Given the description of an element on the screen output the (x, y) to click on. 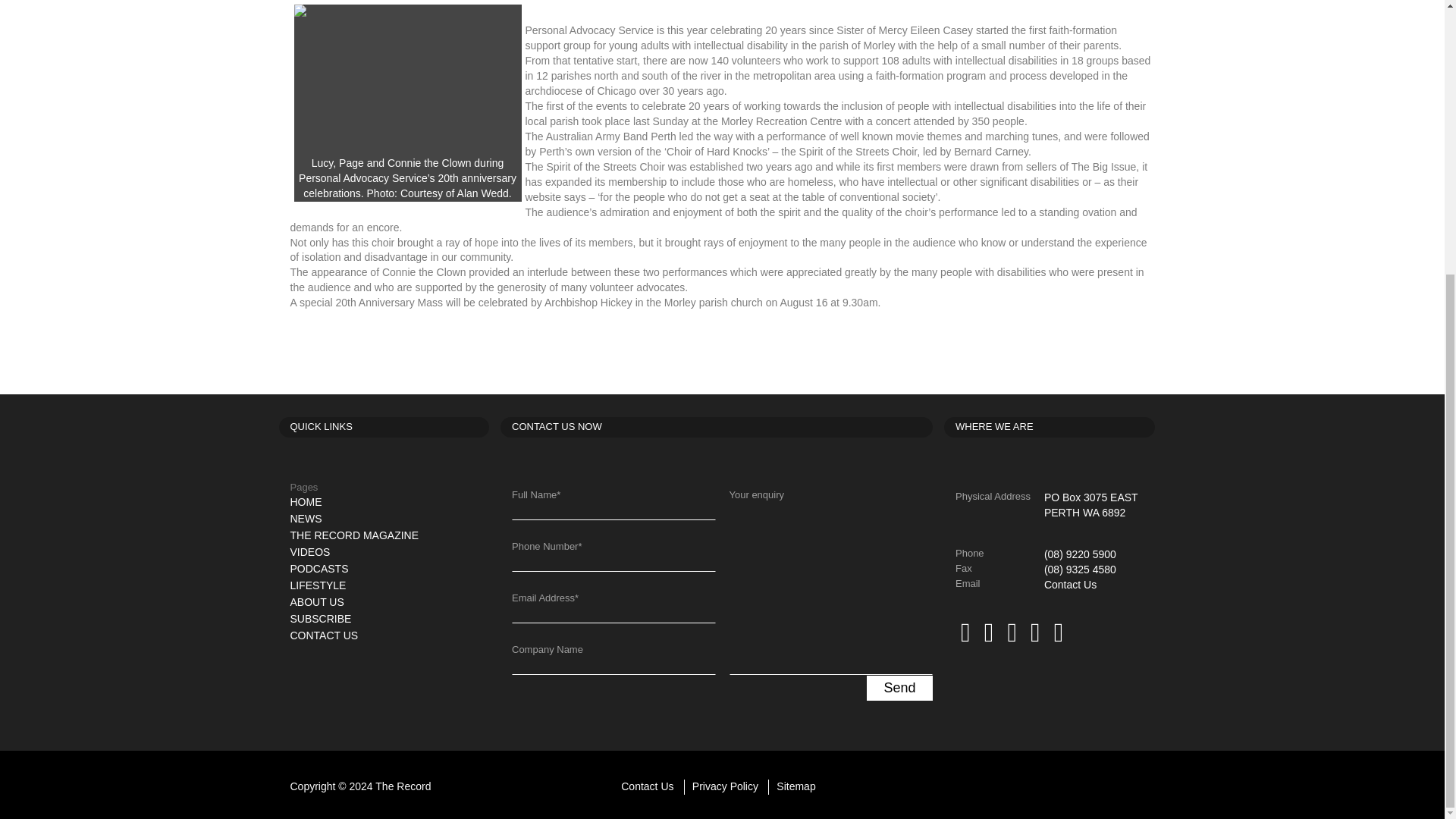
Send (899, 688)
